Given the description of an element on the screen output the (x, y) to click on. 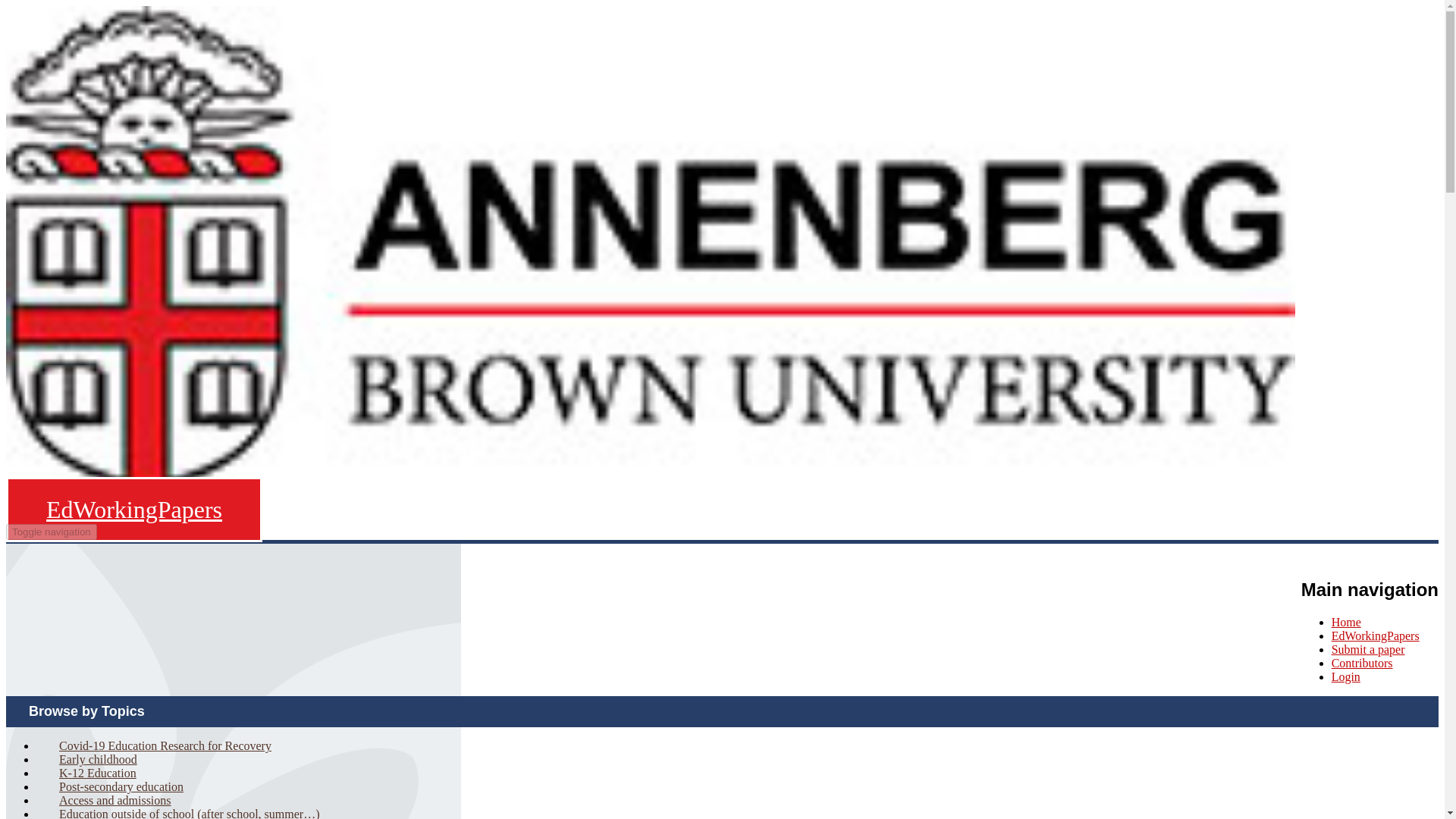
Access and admissions (114, 800)
Submit a paper (1368, 649)
Covid-19 Education Research for Recovery (165, 745)
Login (1345, 676)
Post-secondary education (121, 786)
EdWorkingPapers (133, 509)
Contributors (1362, 662)
Early childhood (98, 759)
Toggle navigation (51, 531)
K-12 Education (97, 772)
Home (133, 509)
EdWorkingPapers (1375, 635)
